Given the description of an element on the screen output the (x, y) to click on. 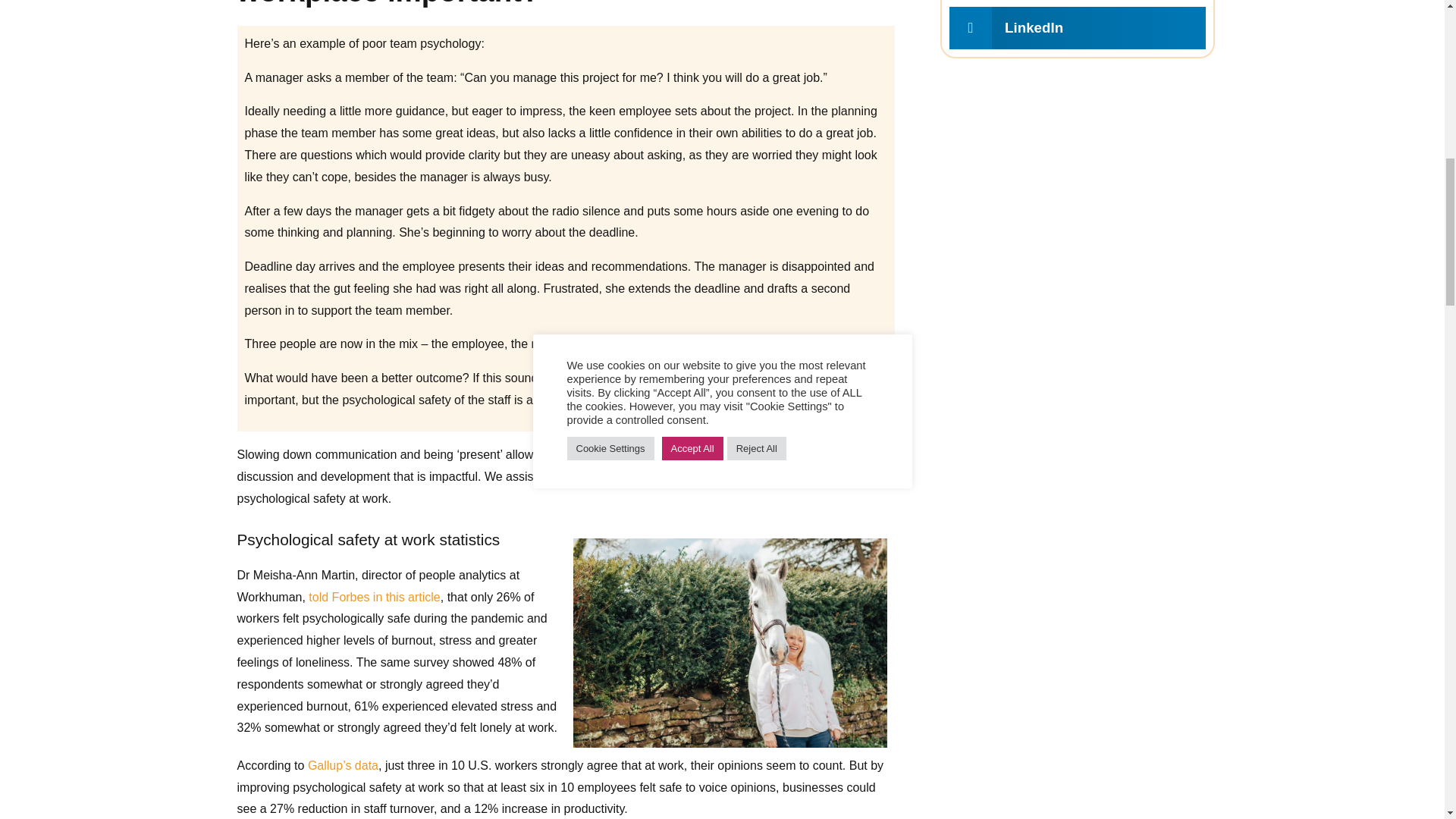
told Forbes in this article (373, 596)
